Given the description of an element on the screen output the (x, y) to click on. 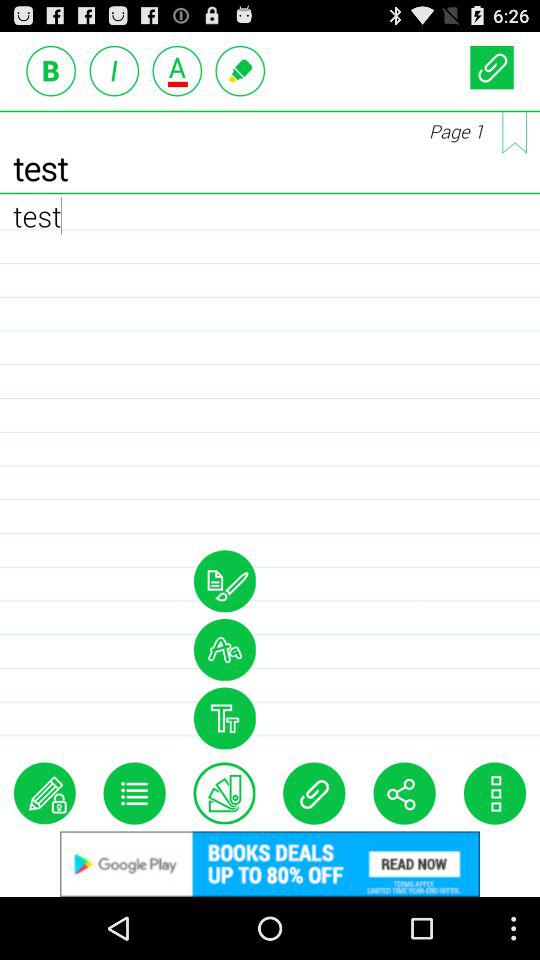
bold font (51, 70)
